Given the description of an element on the screen output the (x, y) to click on. 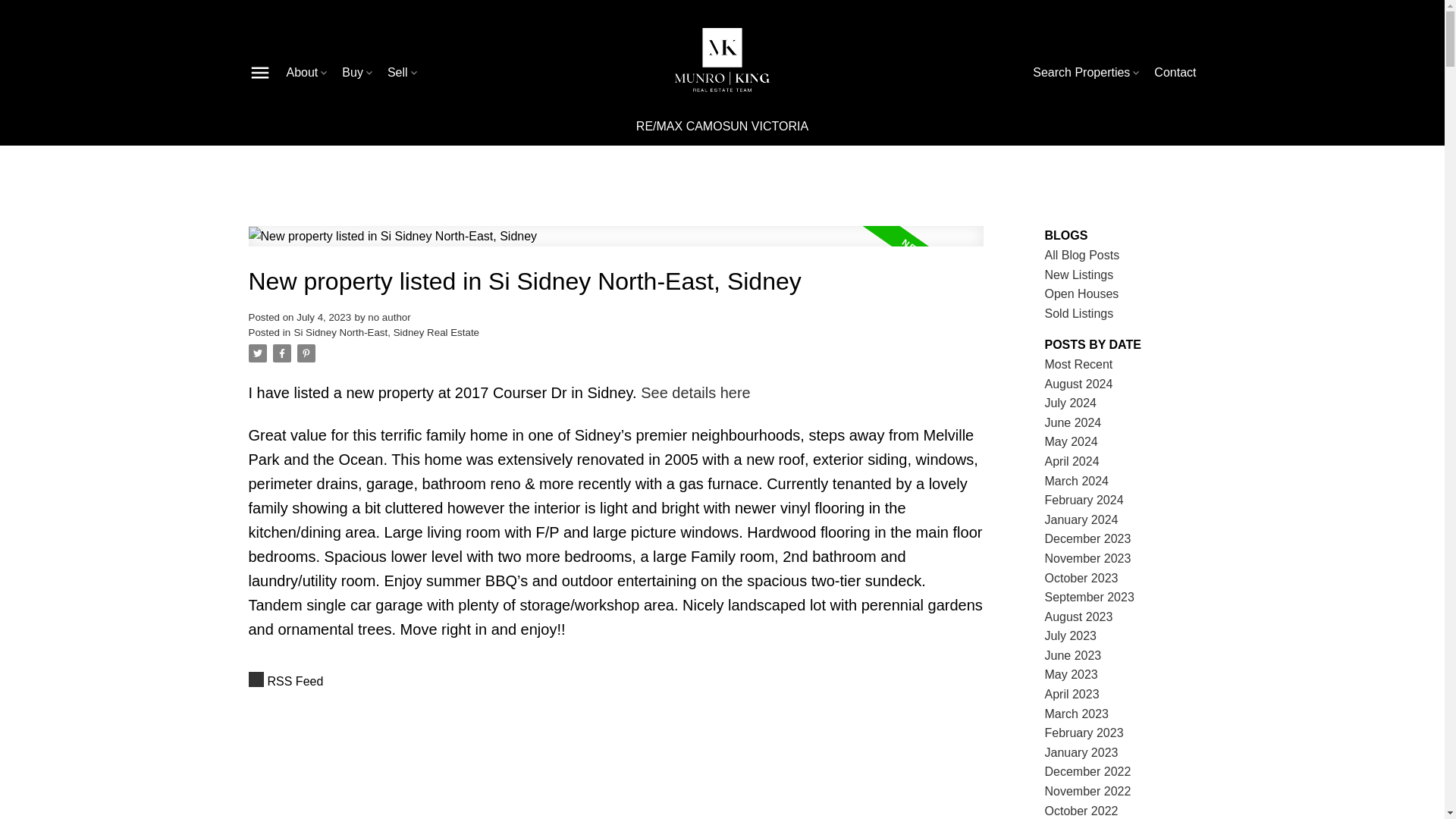
Si Sidney North-East, Sidney Real Estate (386, 332)
April 2024 (1072, 461)
Open Houses (1082, 293)
All Blog Posts (1082, 254)
Search Properties (1086, 72)
January 2024 (1081, 519)
Buy (358, 72)
Contact (1174, 72)
February 2024 (1084, 499)
New Listings (1079, 274)
